Given the description of an element on the screen output the (x, y) to click on. 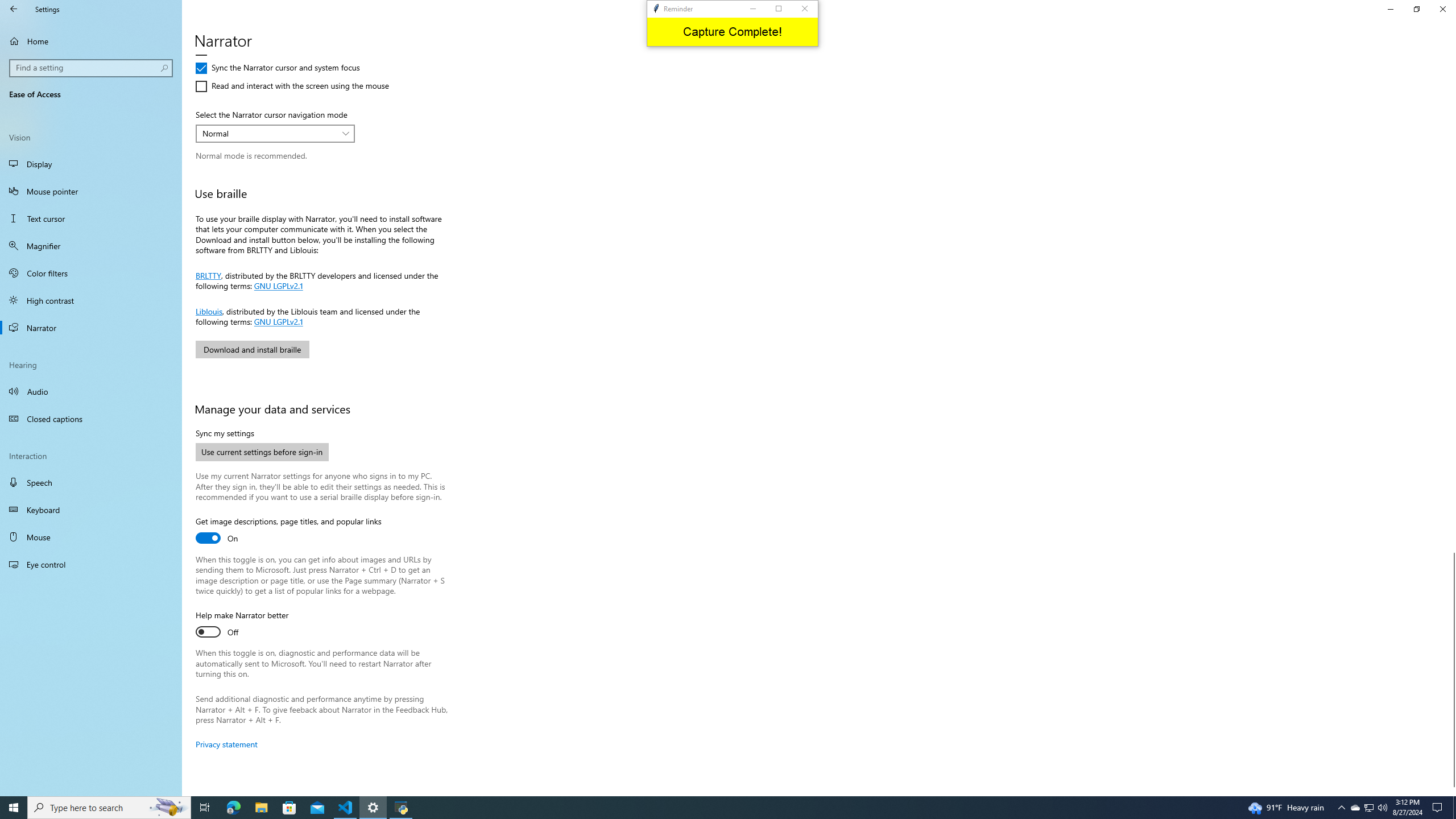
Vertical Large Decrease (1451, 307)
Microsoft Edge (233, 807)
Eye control (91, 564)
Privacy statement (226, 743)
Search highlights icon opens search home window (167, 807)
Notification Chevron (1341, 807)
Start (13, 807)
Display (91, 163)
Get image descriptions, page titles, and popular links (288, 531)
Running applications (717, 807)
Mouse (91, 536)
Action Center, No new notifications (1439, 807)
Use current settings before sign-in (262, 452)
